Given the description of an element on the screen output the (x, y) to click on. 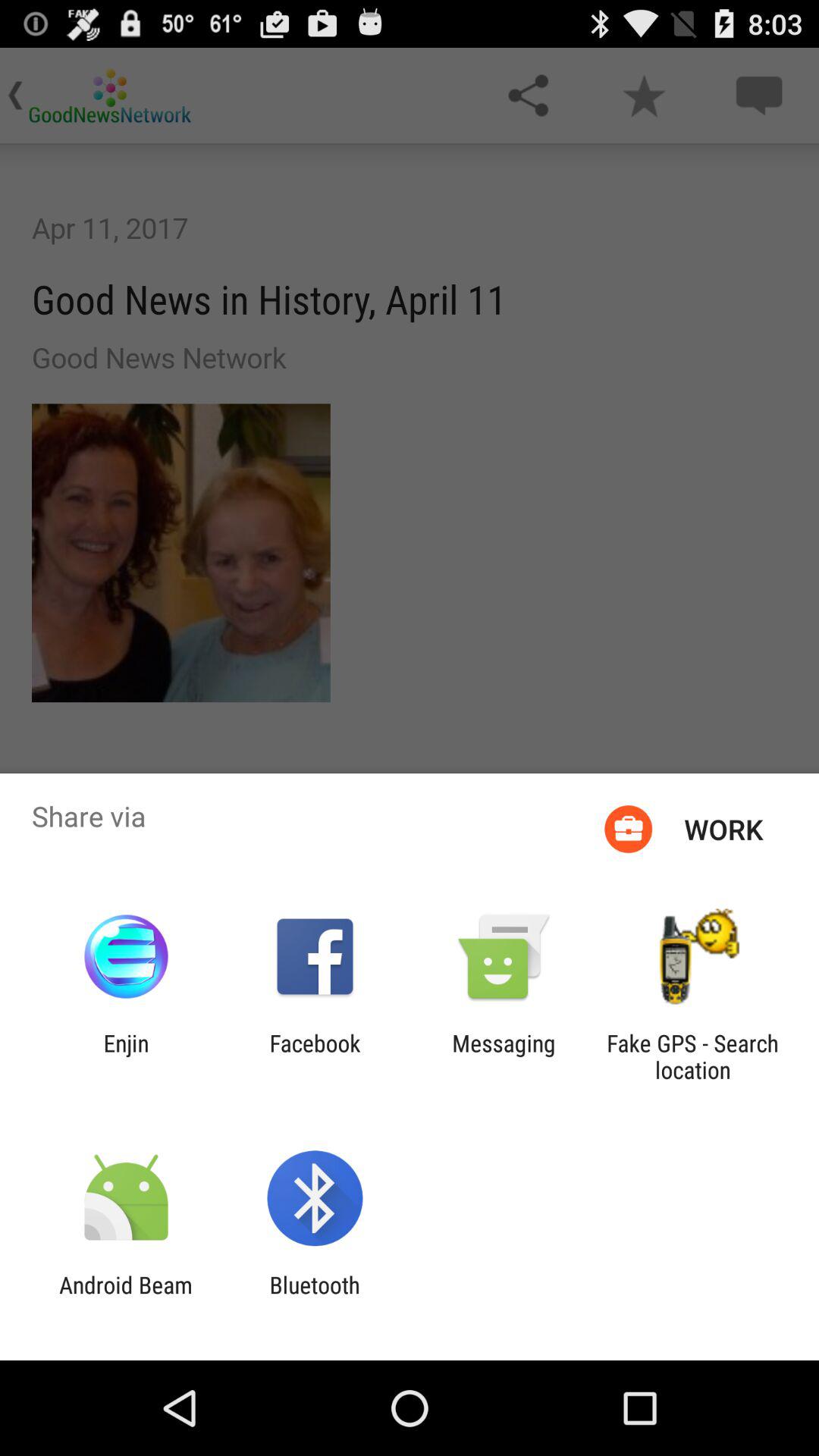
jump until the facebook item (314, 1056)
